Given the description of an element on the screen output the (x, y) to click on. 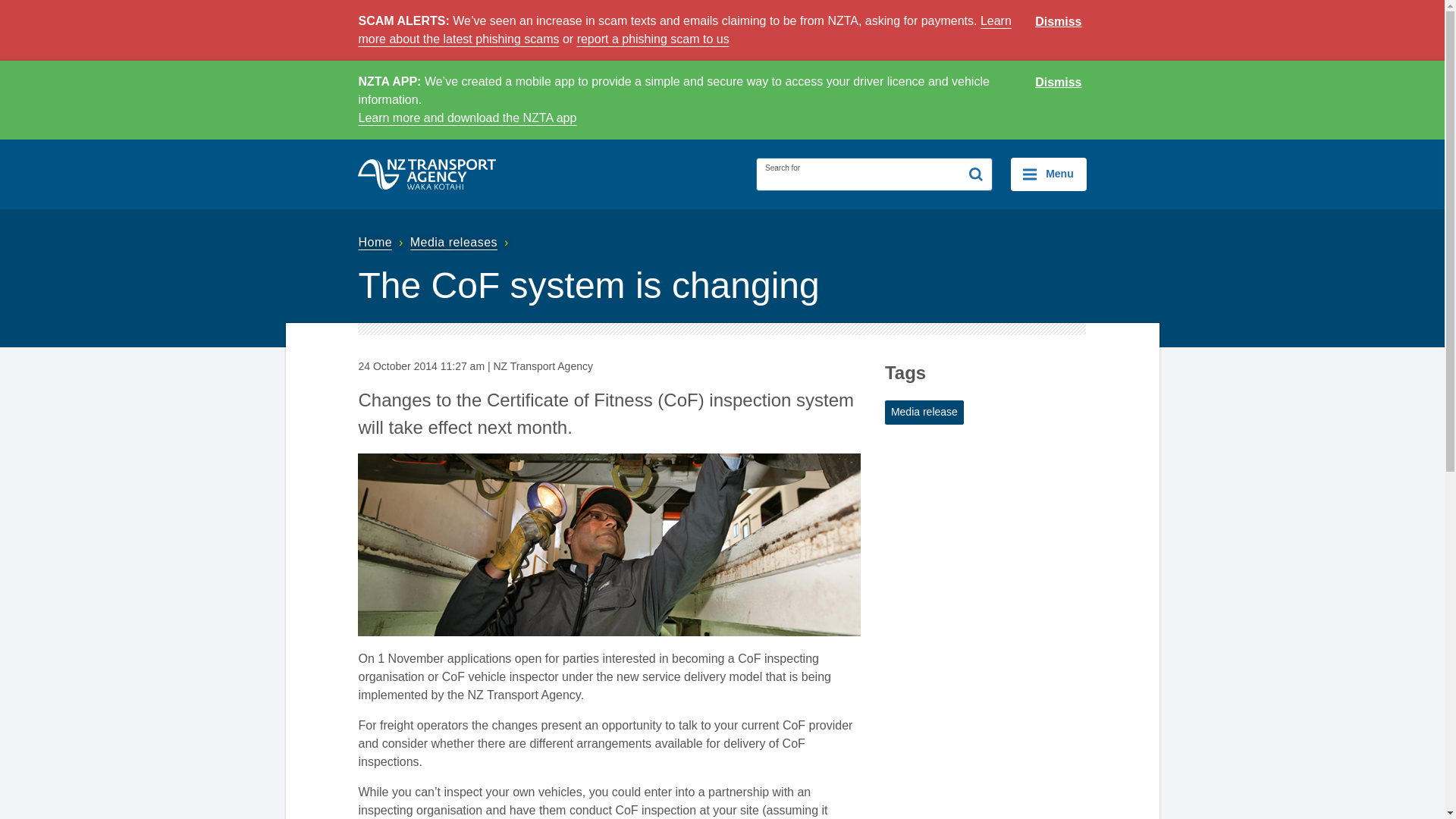
Learn more and download the NZTA app (467, 117)
View all posts tagged 'Media release' (924, 412)
Home (382, 241)
Menu (1048, 174)
NZ Transport Agency Waka Kotahi (427, 173)
Dismiss (1058, 82)
Learn more about the latest phishing scams (684, 29)
Dismiss (1058, 21)
report a phishing scam to us (652, 38)
